Given the description of an element on the screen output the (x, y) to click on. 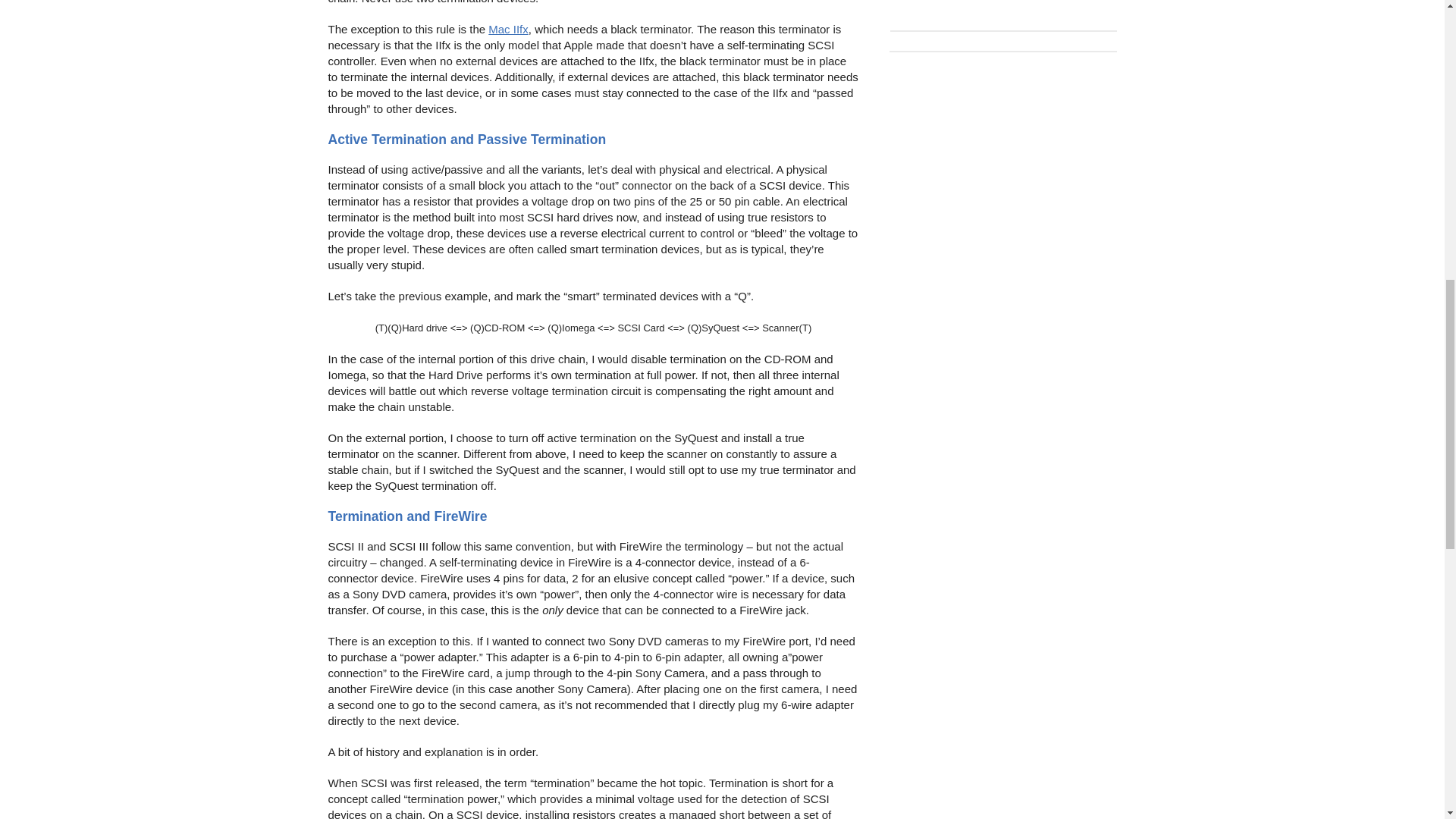
Mac IIfx (507, 29)
Mac IIfx (507, 29)
